Given the description of an element on the screen output the (x, y) to click on. 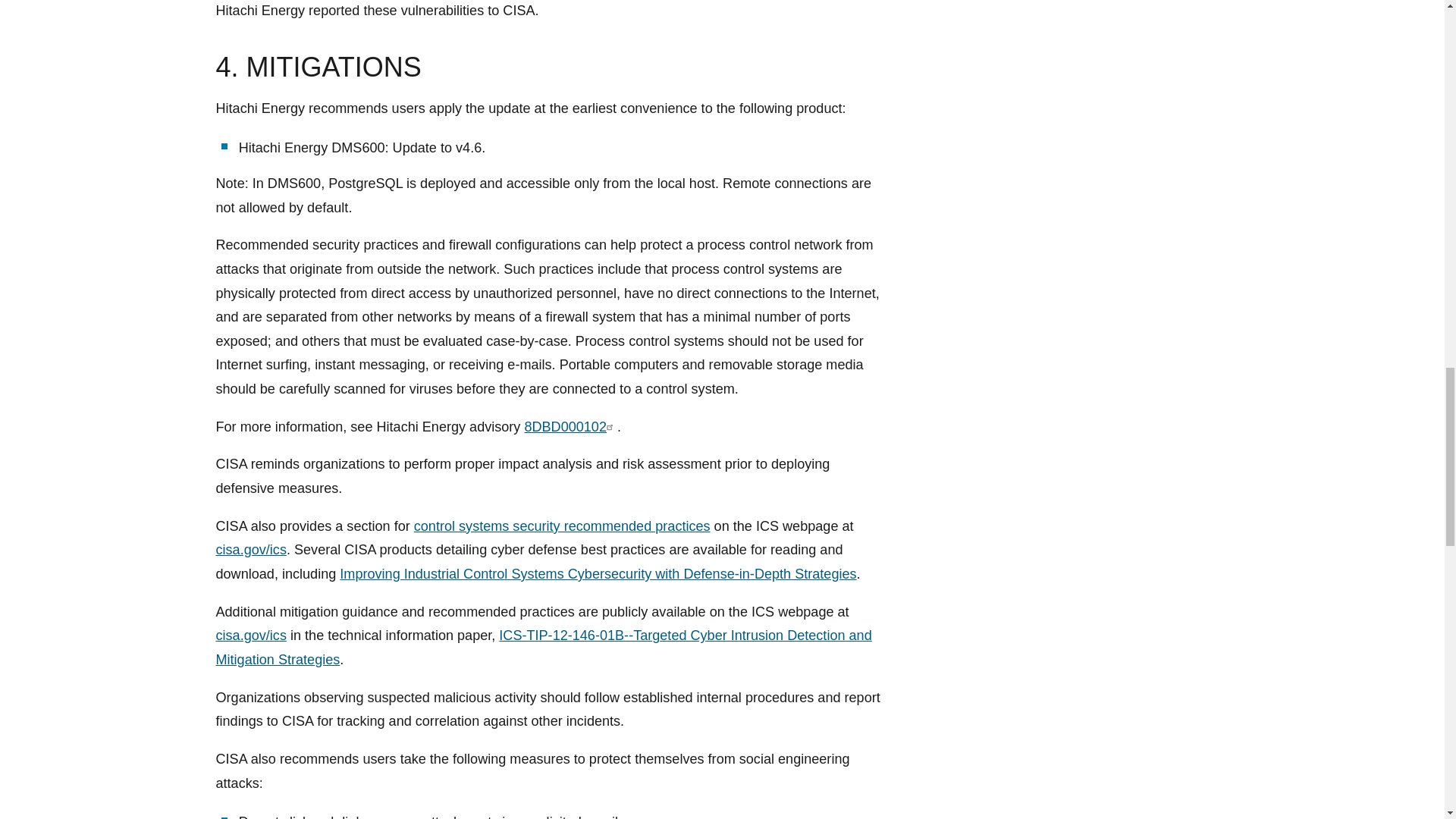
control systems security recommended practices (561, 525)
